Given the description of an element on the screen output the (x, y) to click on. 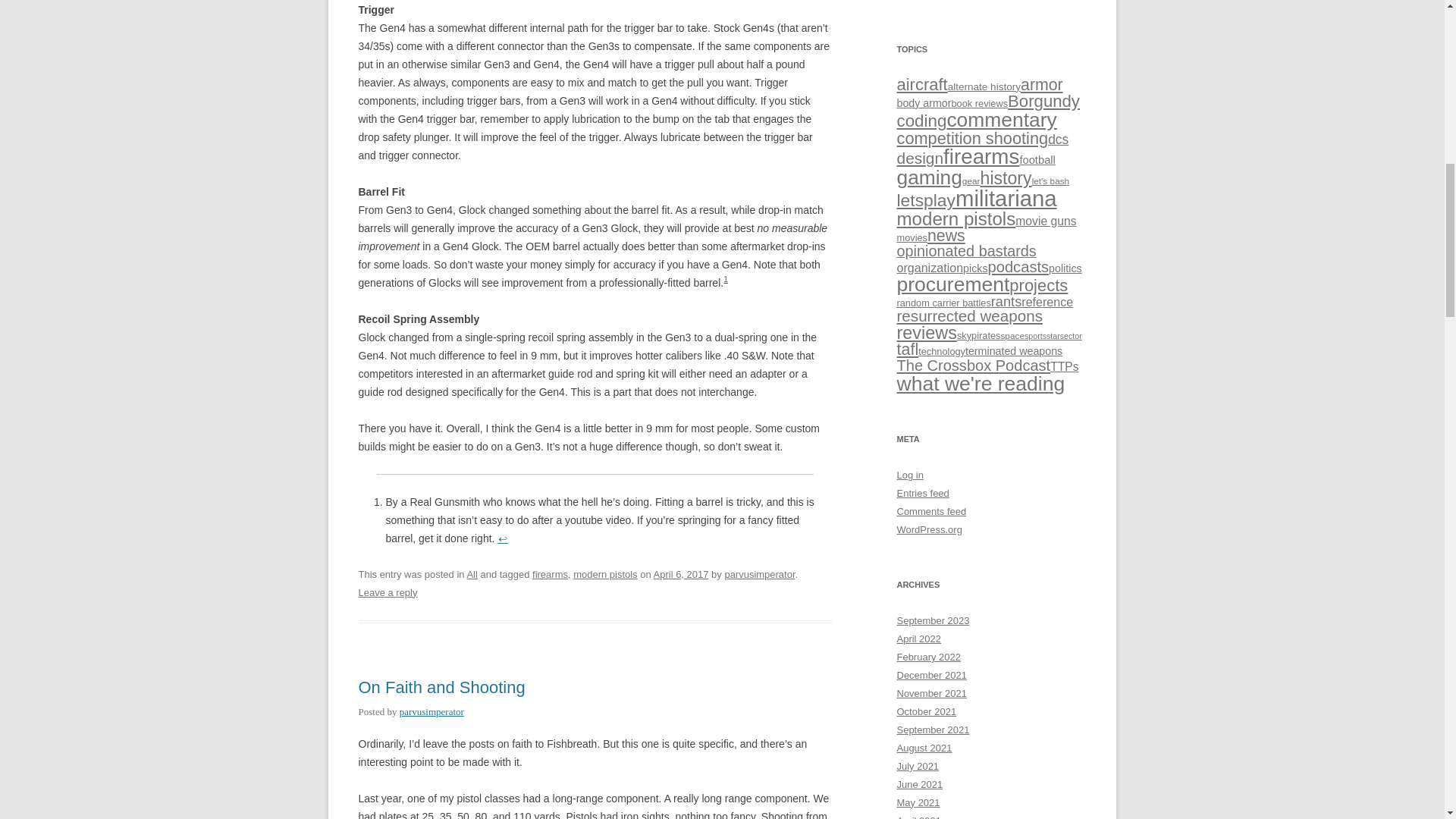
10:13 am (681, 573)
On Faith and Shooting (441, 687)
View all posts by parvusimperator (758, 573)
firearms (549, 573)
Posts by parvusimperator (431, 711)
Leave a reply (387, 592)
All (471, 573)
modern pistols (605, 573)
April 6, 2017 (681, 573)
parvusimperator (758, 573)
parvusimperator (431, 711)
